Given the description of an element on the screen output the (x, y) to click on. 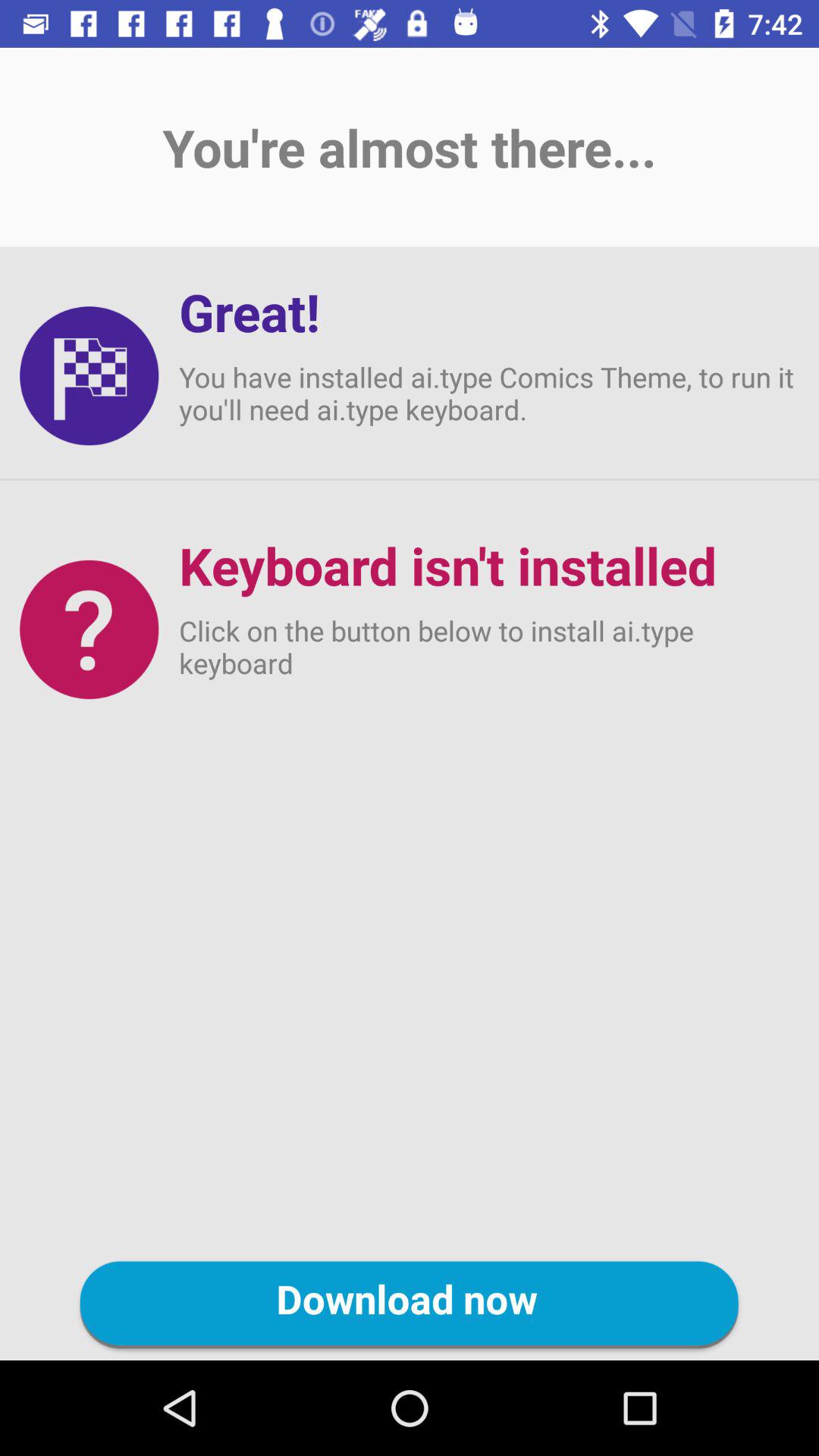
turn off the download now icon (409, 1305)
